Given the description of an element on the screen output the (x, y) to click on. 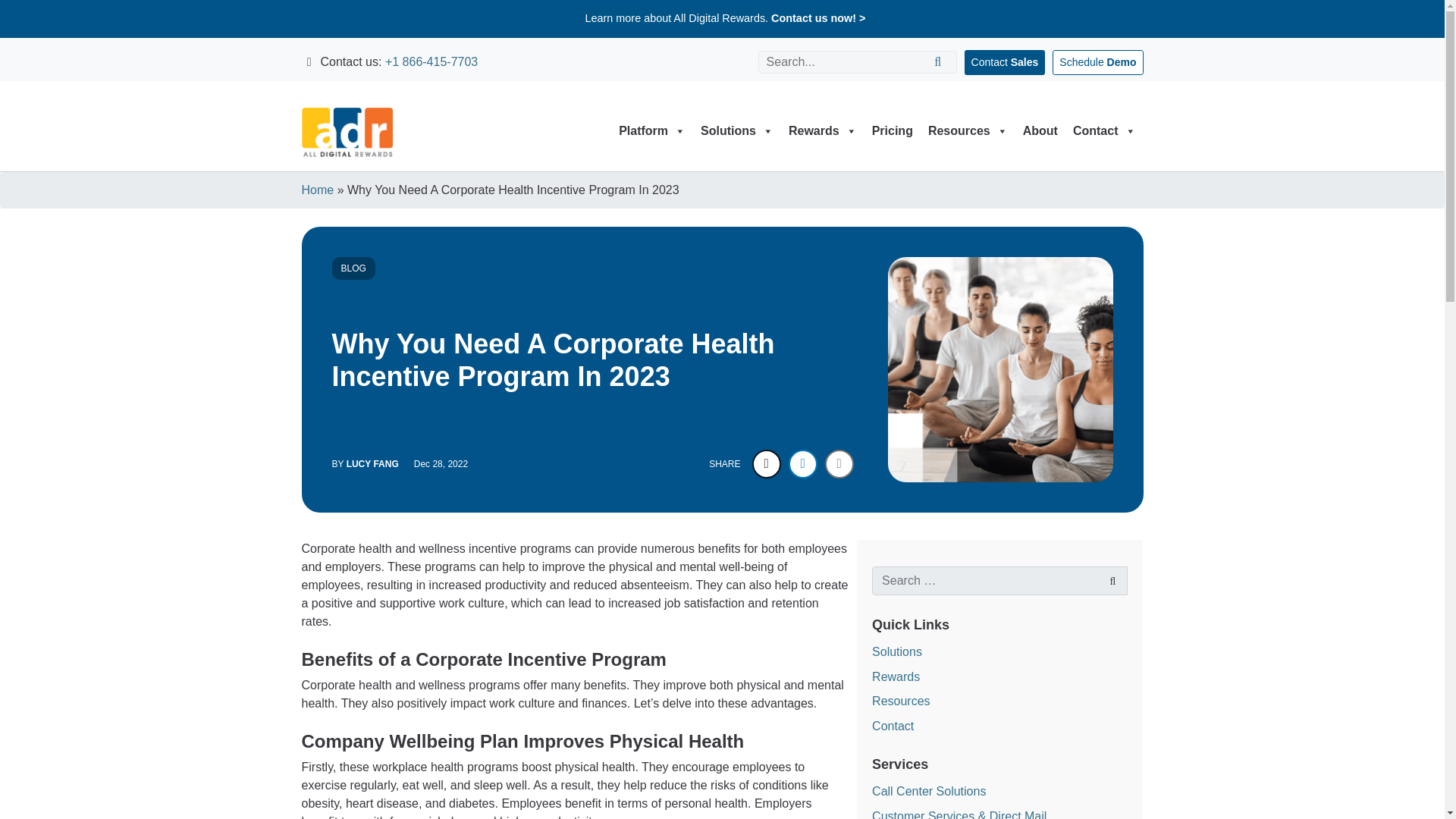
Solutions (736, 132)
Platform (652, 132)
Schedule Demo (1097, 62)
Contact Sales (1004, 62)
